Given the description of an element on the screen output the (x, y) to click on. 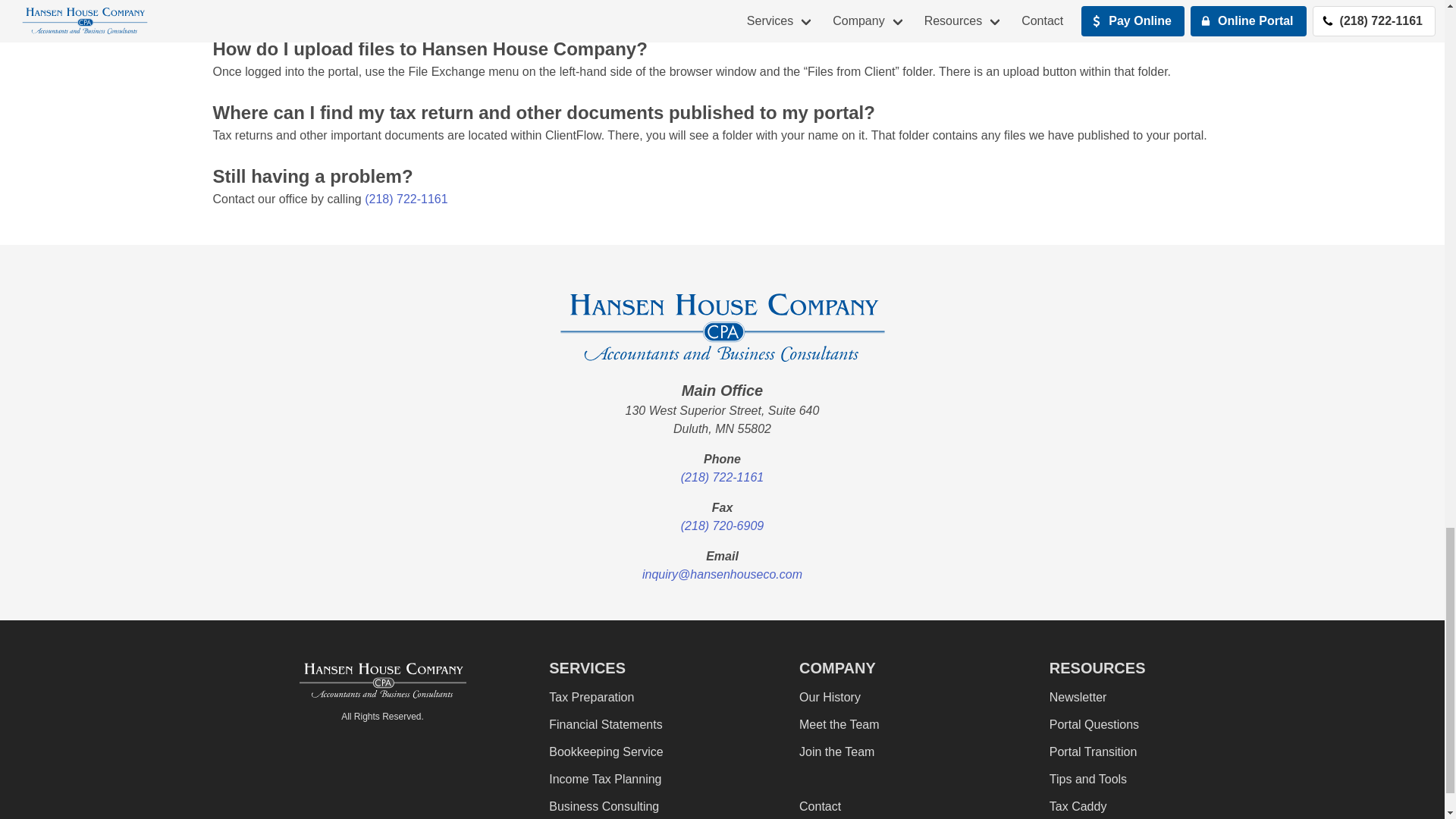
Tips and Tools (1087, 778)
Our History (829, 696)
Bookkeeping Service (605, 751)
Meet the Team (839, 724)
Financial Statements (605, 724)
Newsletter (1077, 696)
Income Tax Planning (604, 778)
Join the Team (837, 751)
Portal Questions (1093, 724)
Portal Transition (1093, 751)
